Given the description of an element on the screen output the (x, y) to click on. 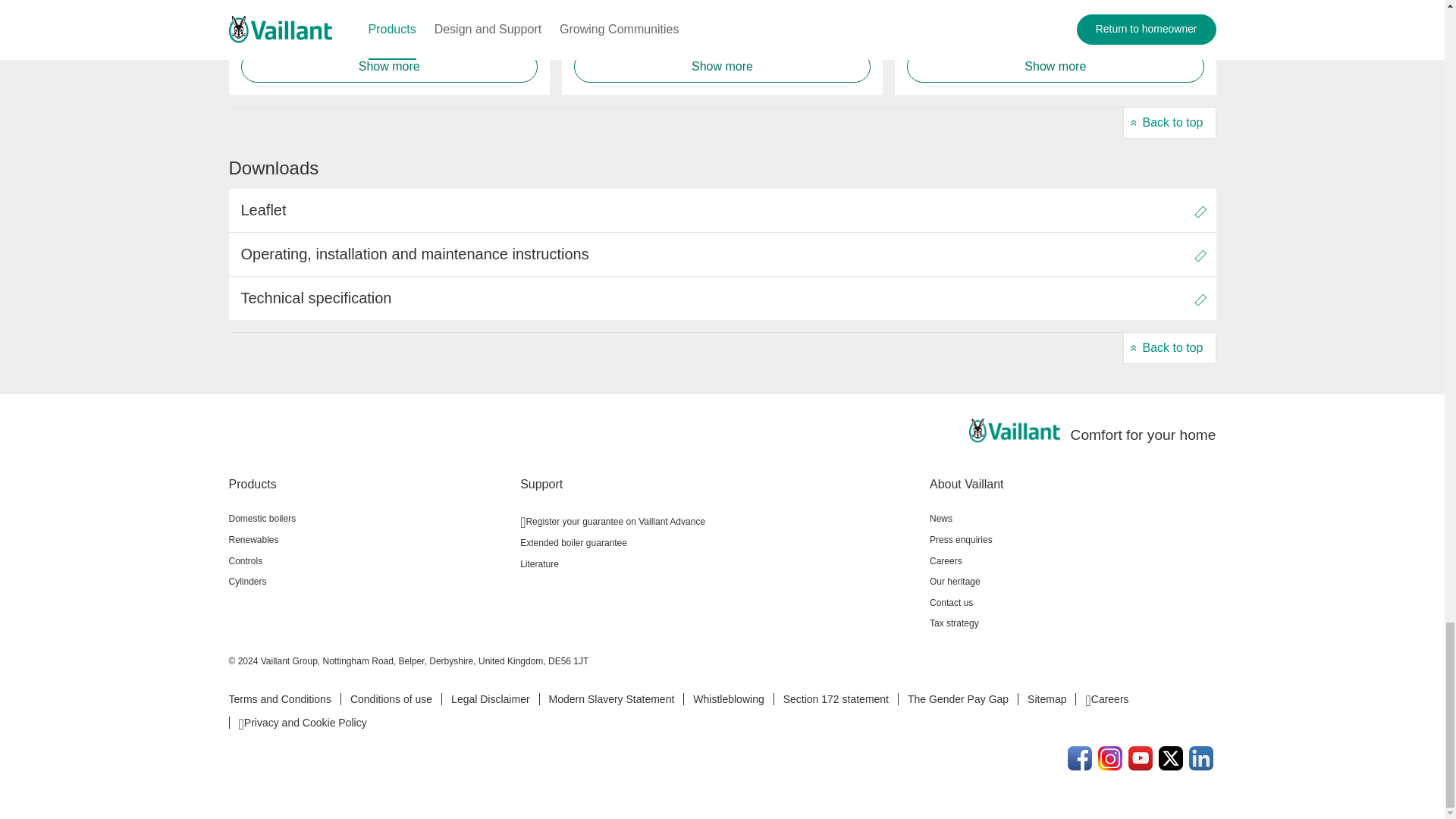
Instagram (1109, 758)
Vaillant (1015, 430)
Linkedin (1200, 758)
Twitter (1170, 758)
Facebook (1079, 758)
Youtube (1140, 758)
